Given the description of an element on the screen output the (x, y) to click on. 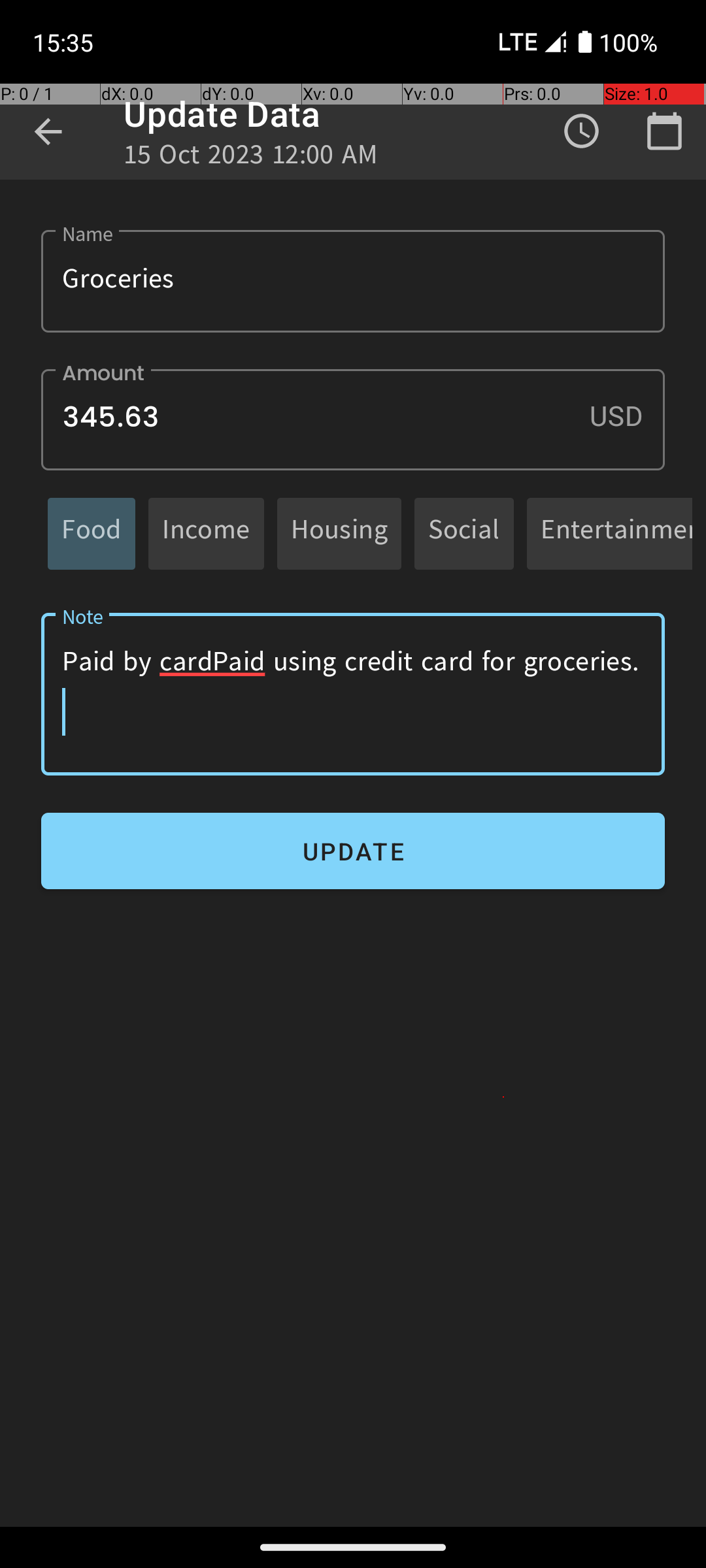
15 Oct 2023 12:00 AM Element type: android.widget.TextView (250, 157)
Groceries Element type: android.widget.EditText (352, 280)
345.63 Element type: android.widget.EditText (352, 419)
Paid by cardPaid using credit card for groceries.
 Element type: android.widget.EditText (352, 693)
